Given the description of an element on the screen output the (x, y) to click on. 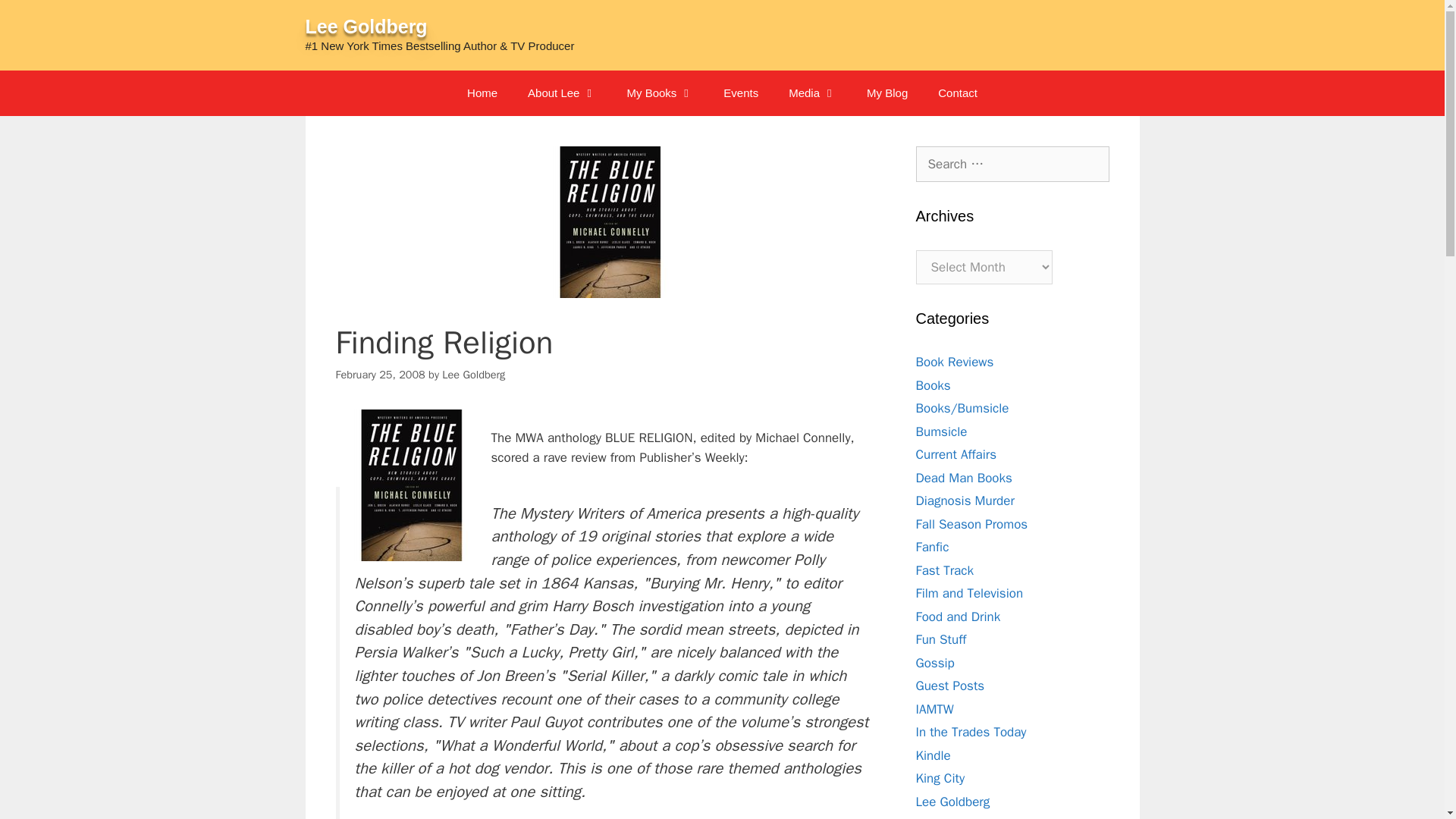
Events (740, 92)
Media (812, 92)
My Blog (887, 92)
Search for: (1012, 163)
View all posts by Lee Goldberg (473, 374)
My Books (659, 92)
About Lee (561, 92)
Home (481, 92)
Lee Goldberg (365, 25)
